Given the description of an element on the screen output the (x, y) to click on. 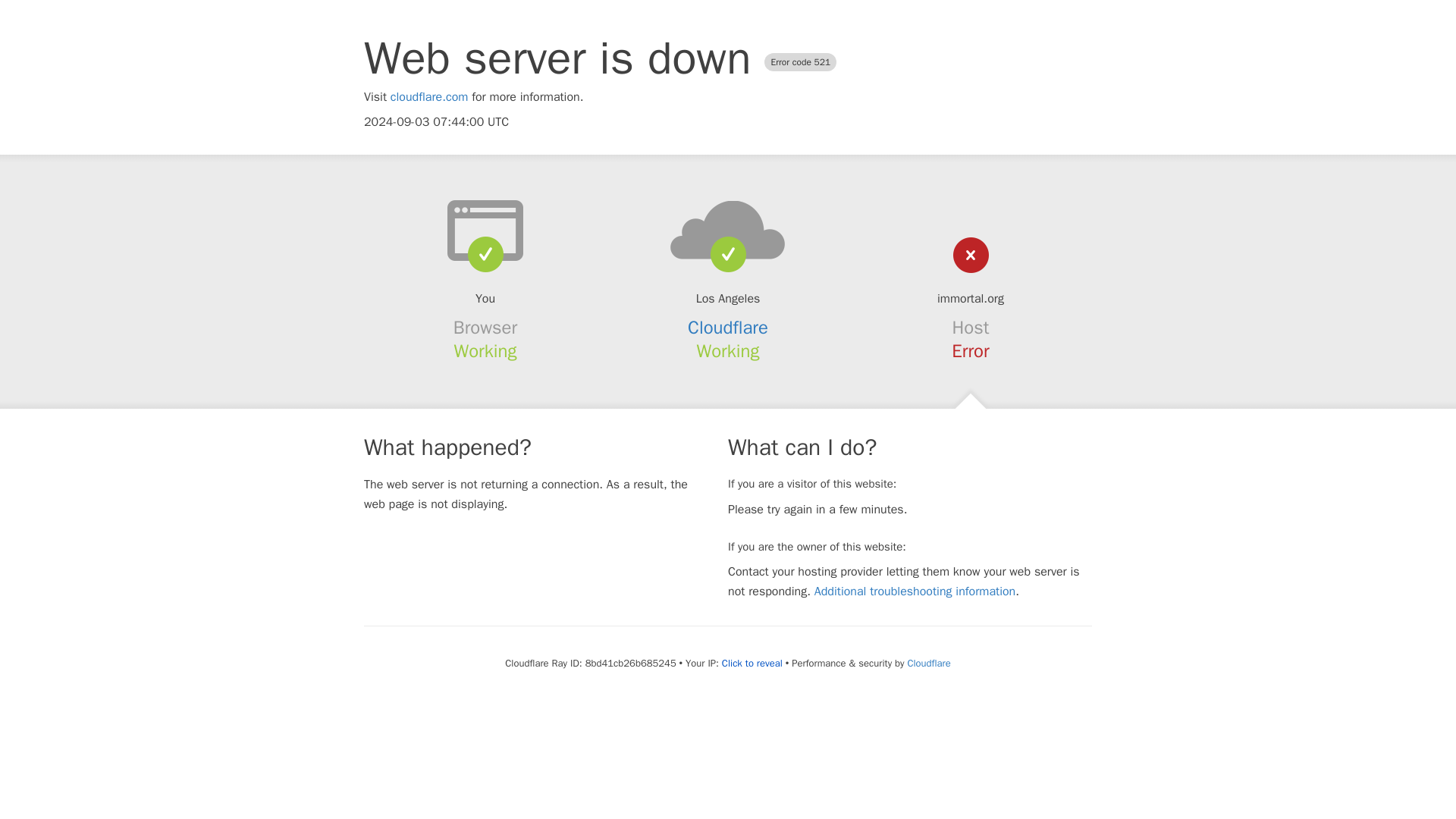
Cloudflare (727, 327)
Additional troubleshooting information (913, 590)
Click to reveal (752, 663)
cloudflare.com (429, 96)
Cloudflare (928, 662)
